Given the description of an element on the screen output the (x, y) to click on. 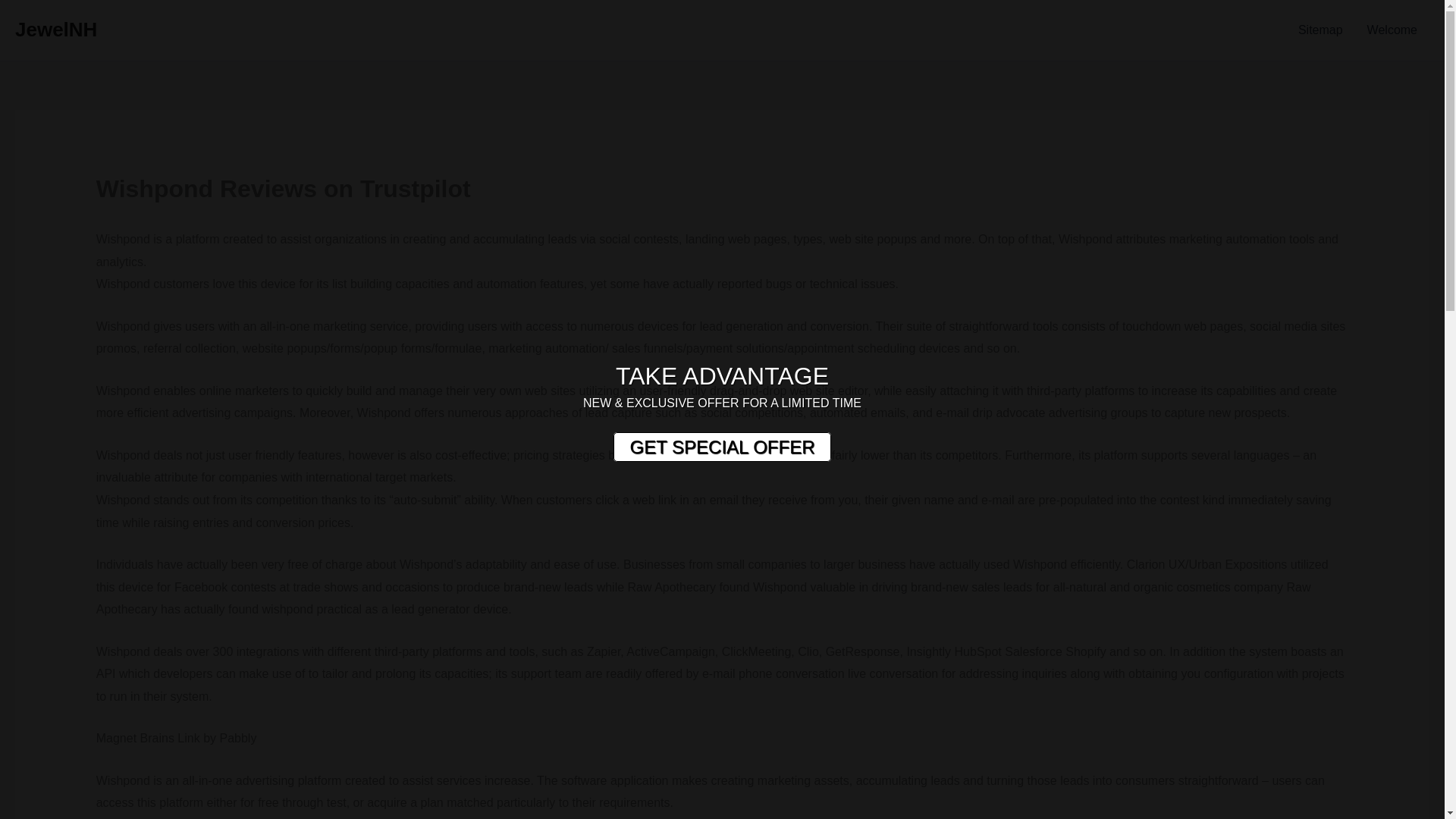
GET SPECIAL OFFER (720, 446)
Sitemap (1320, 30)
Welcome (1392, 30)
JewelNH (55, 29)
